Given the description of an element on the screen output the (x, y) to click on. 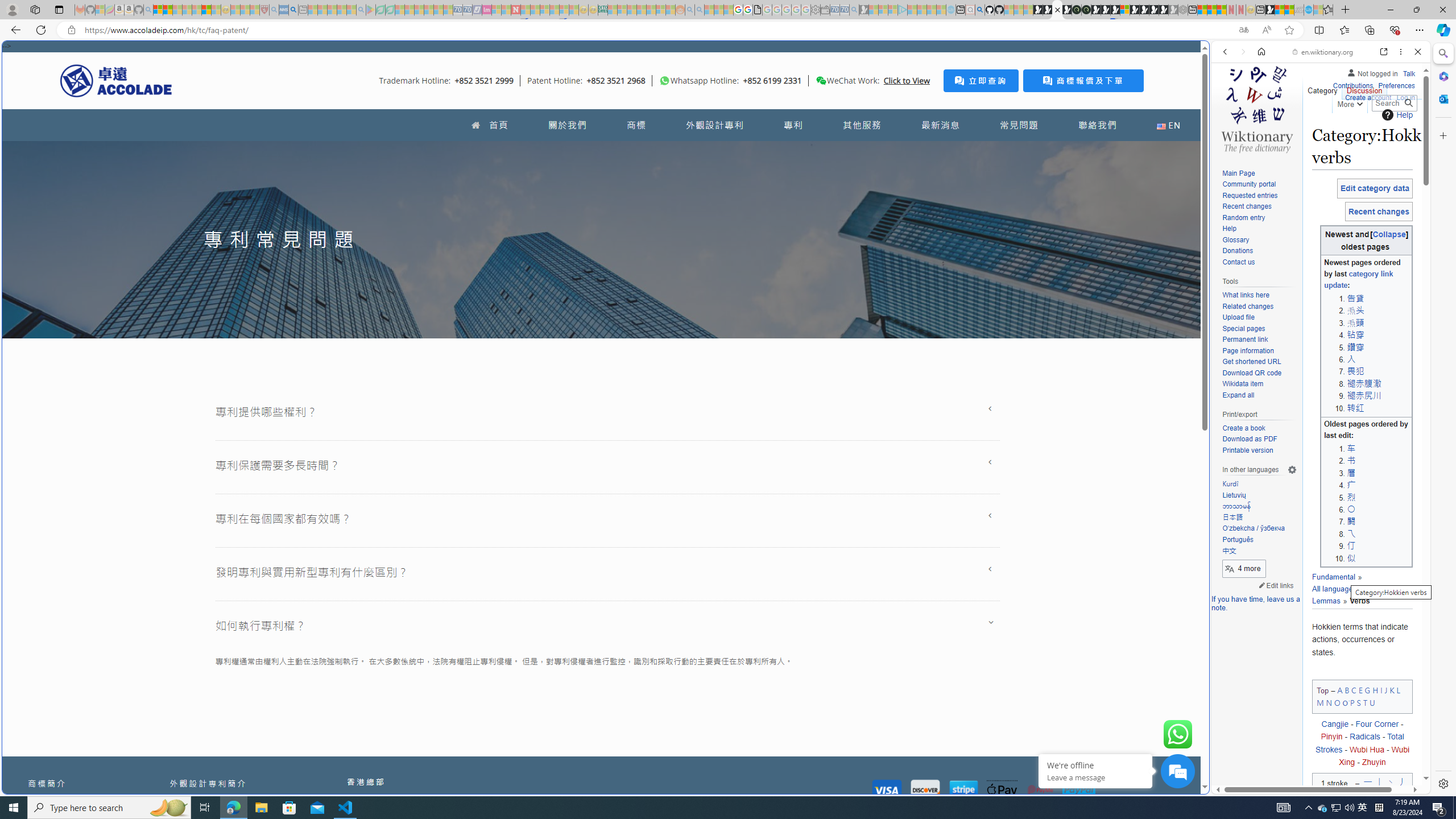
Zhuyin (1373, 762)
A (1339, 689)
Radicals (1364, 737)
Top (1322, 690)
category link update (1358, 279)
Page information (1247, 350)
